Given the description of an element on the screen output the (x, y) to click on. 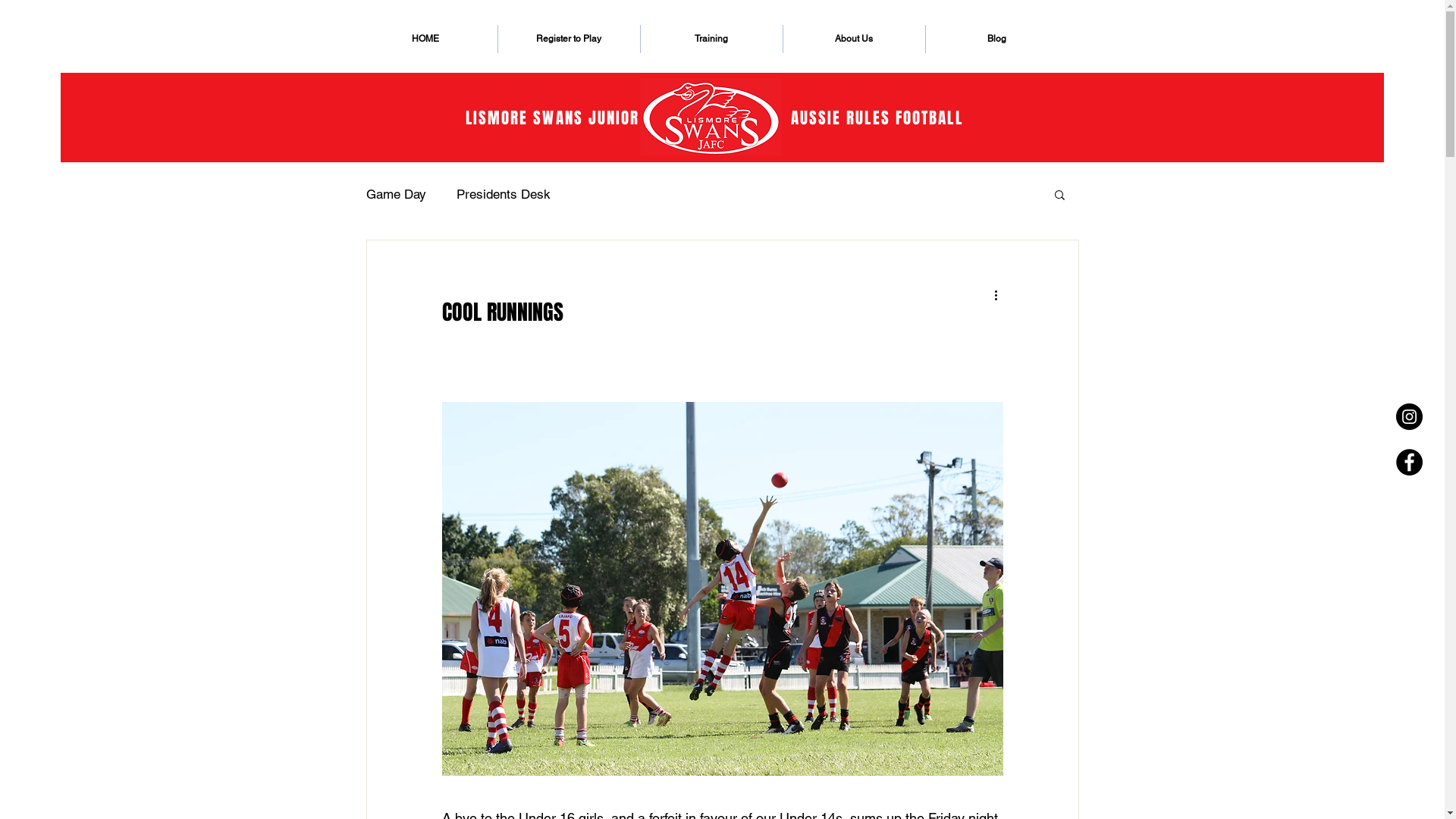
Game Day Element type: text (395, 193)
Training Element type: text (710, 39)
HOME Element type: text (424, 39)
Blog Element type: text (995, 39)
Presidents Desk Element type: text (503, 193)
About Us Element type: text (853, 39)
Register to Play Element type: text (568, 39)
